Given the description of an element on the screen output the (x, y) to click on. 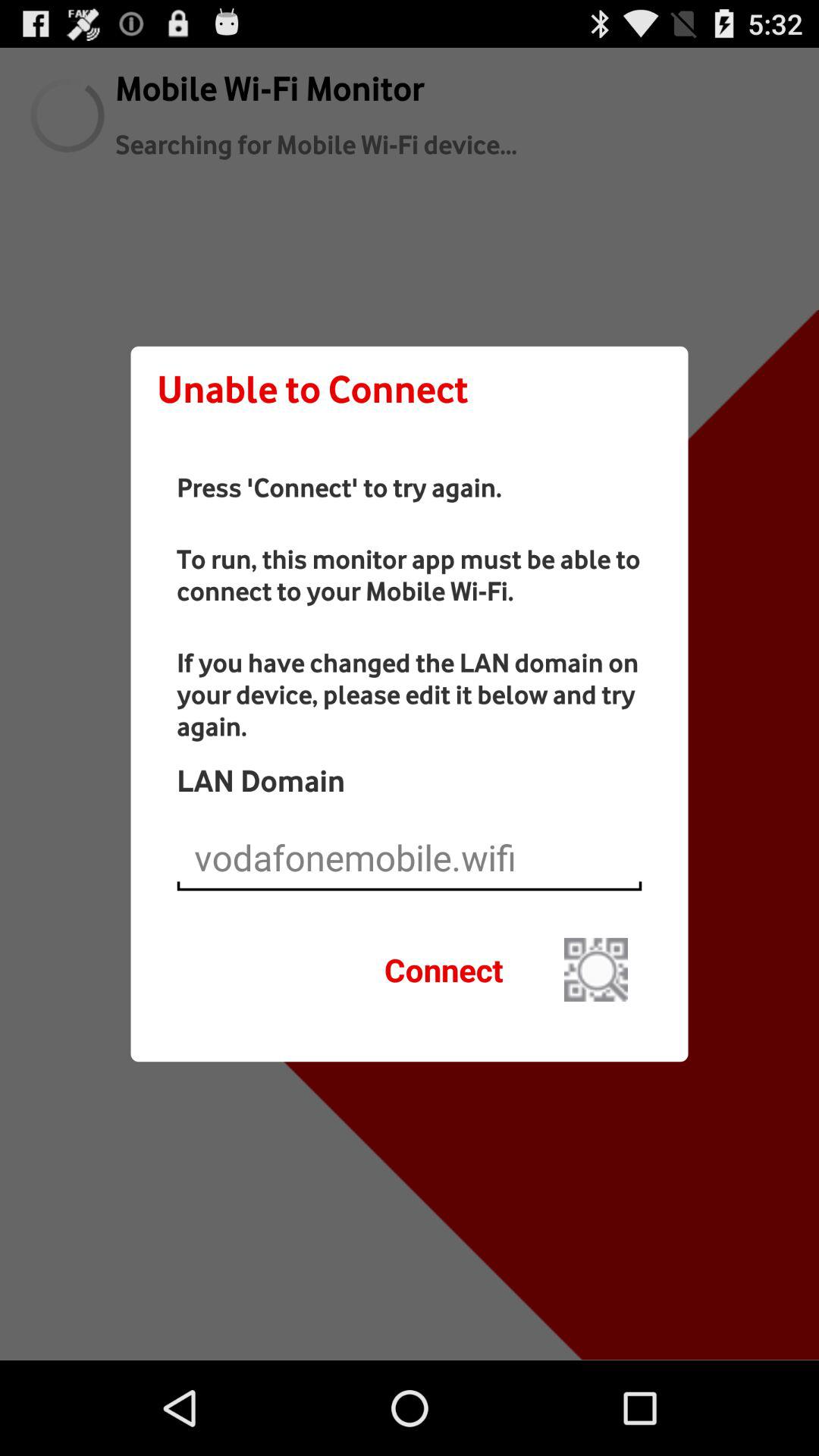
open the button next to the connect icon (595, 969)
